Given the description of an element on the screen output the (x, y) to click on. 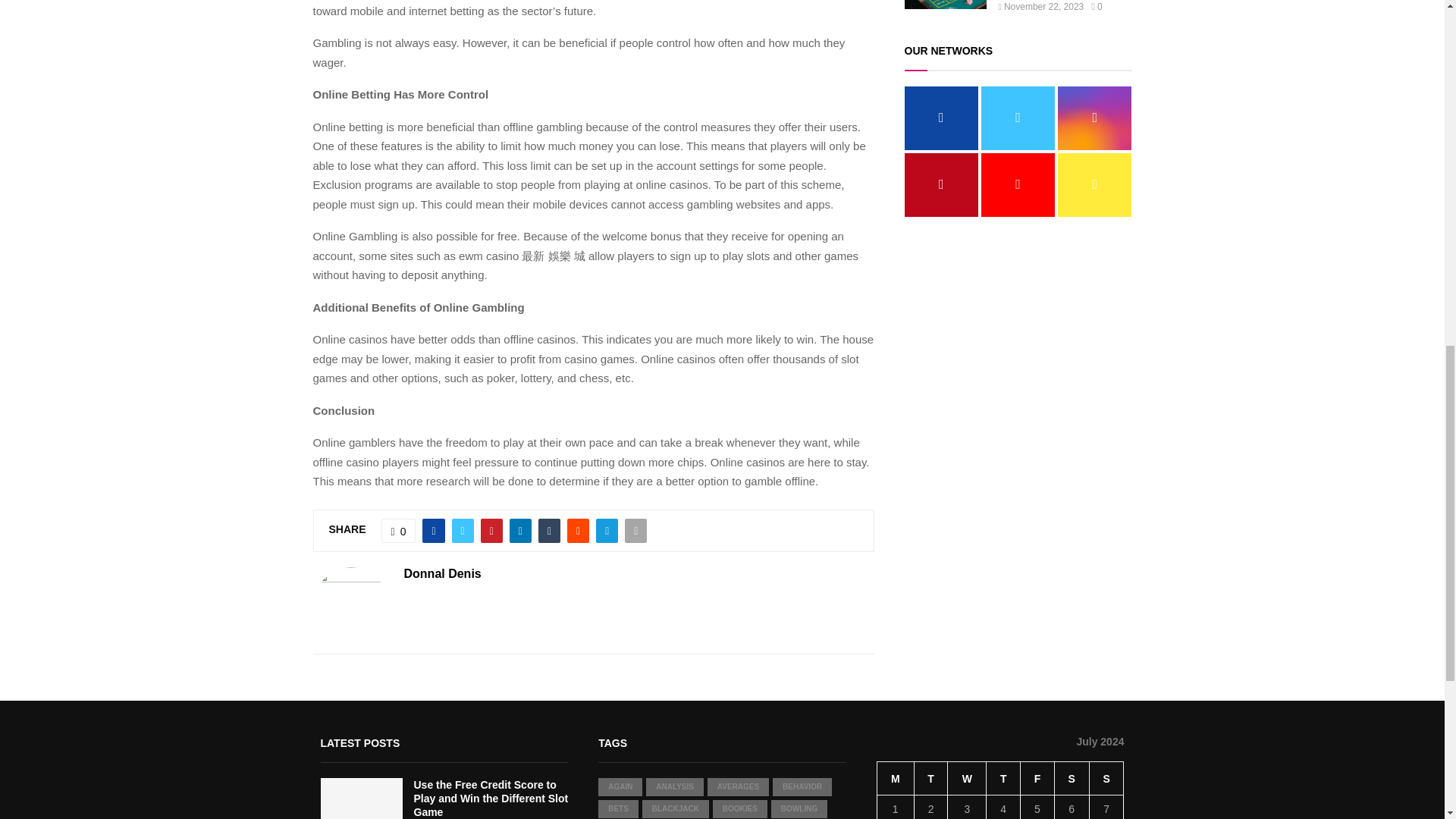
0 (398, 530)
Like (398, 530)
